Given the description of an element on the screen output the (x, y) to click on. 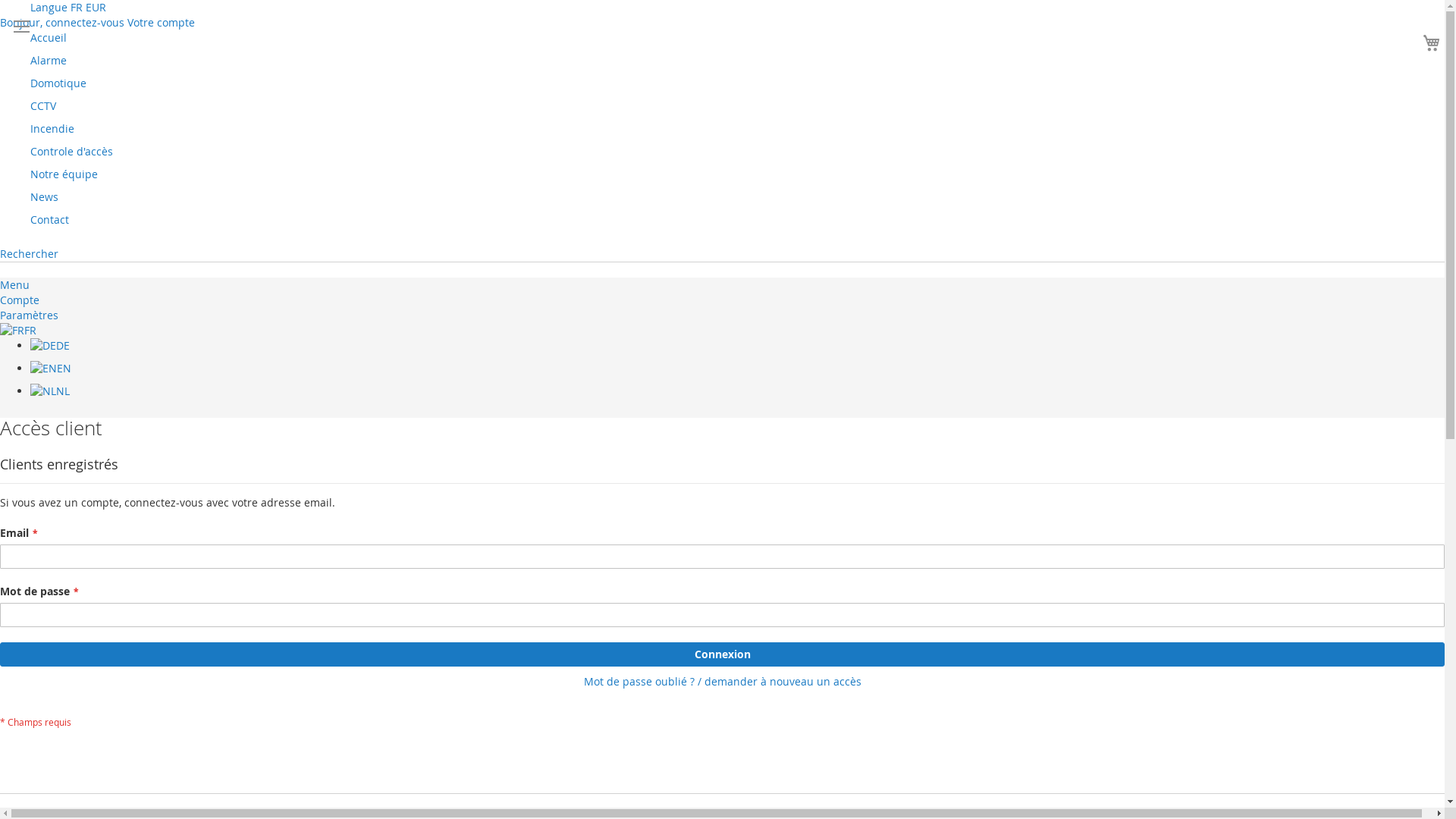
Bonjour, connectez-vous Votre compte Element type: text (97, 22)
Connexion Element type: text (722, 654)
EN Element type: text (50, 367)
FR Element type: text (18, 330)
NL Element type: text (49, 390)
Langue FR EUR Element type: text (68, 7)
Menu Element type: text (14, 284)
Mon panier Element type: text (1431, 42)
Incendie Element type: text (52, 128)
Contact Element type: text (49, 219)
Alarme Element type: text (48, 60)
Email Element type: hover (722, 556)
Compte Element type: text (19, 299)
DE Element type: text (49, 345)
Domotique Element type: text (58, 82)
Accueil Element type: text (48, 37)
Mot de passe Element type: hover (722, 614)
CCTV Element type: text (43, 105)
News Element type: text (44, 196)
Rechercher Element type: text (29, 253)
